Given the description of an element on the screen output the (x, y) to click on. 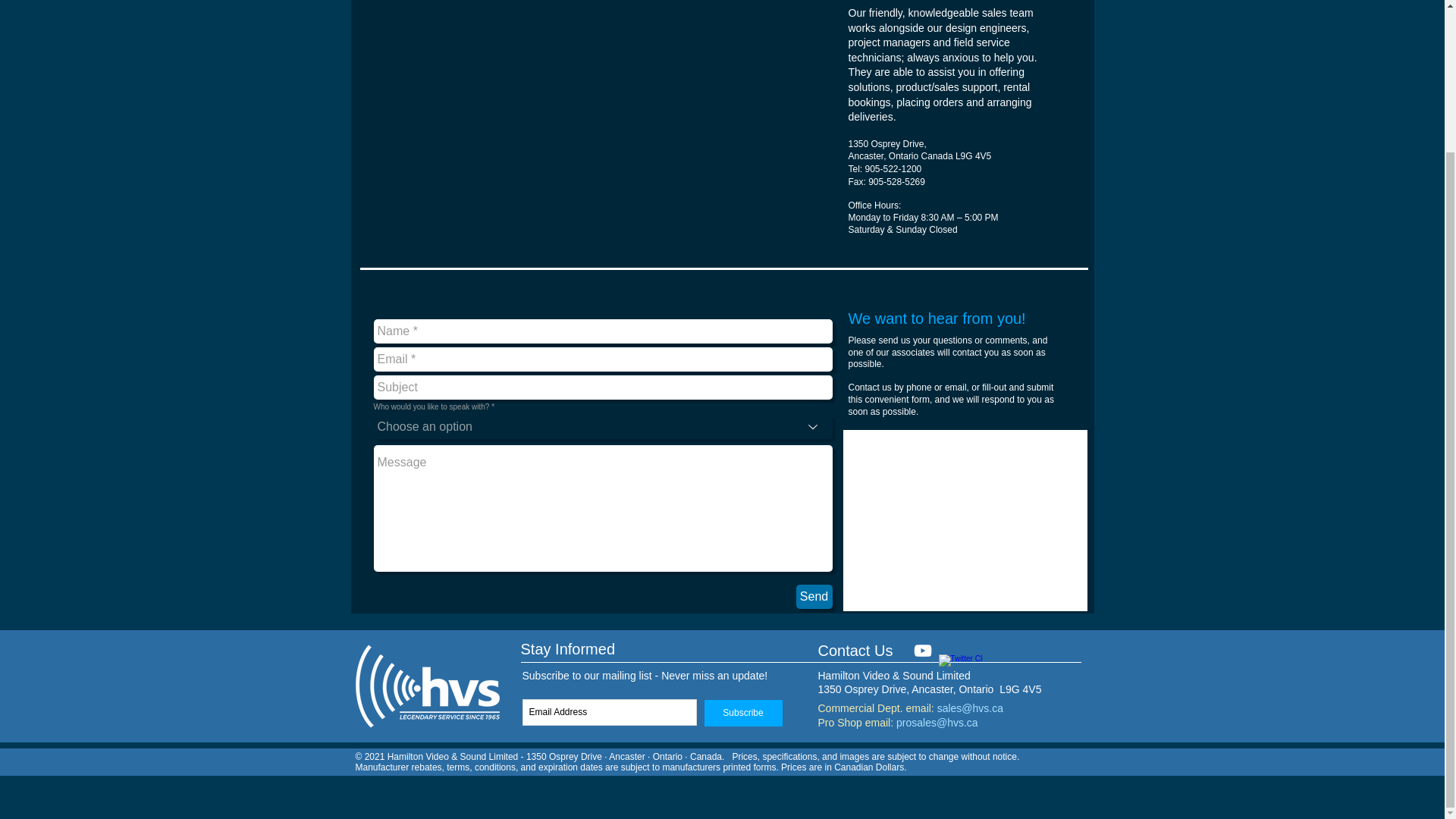
Logo.png (426, 685)
Send (814, 596)
Subscribe (742, 713)
